Given the description of an element on the screen output the (x, y) to click on. 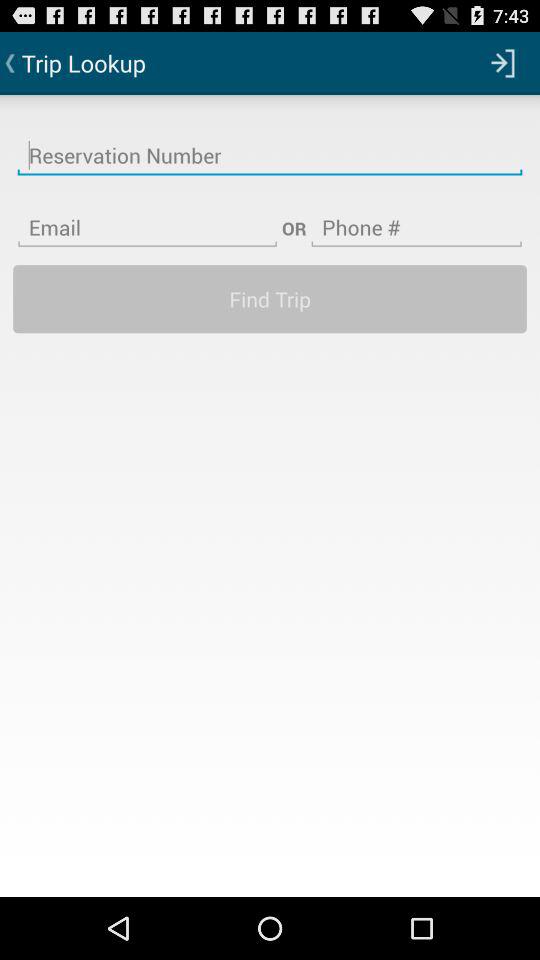
choose icon above find trip button (147, 215)
